Given the description of an element on the screen output the (x, y) to click on. 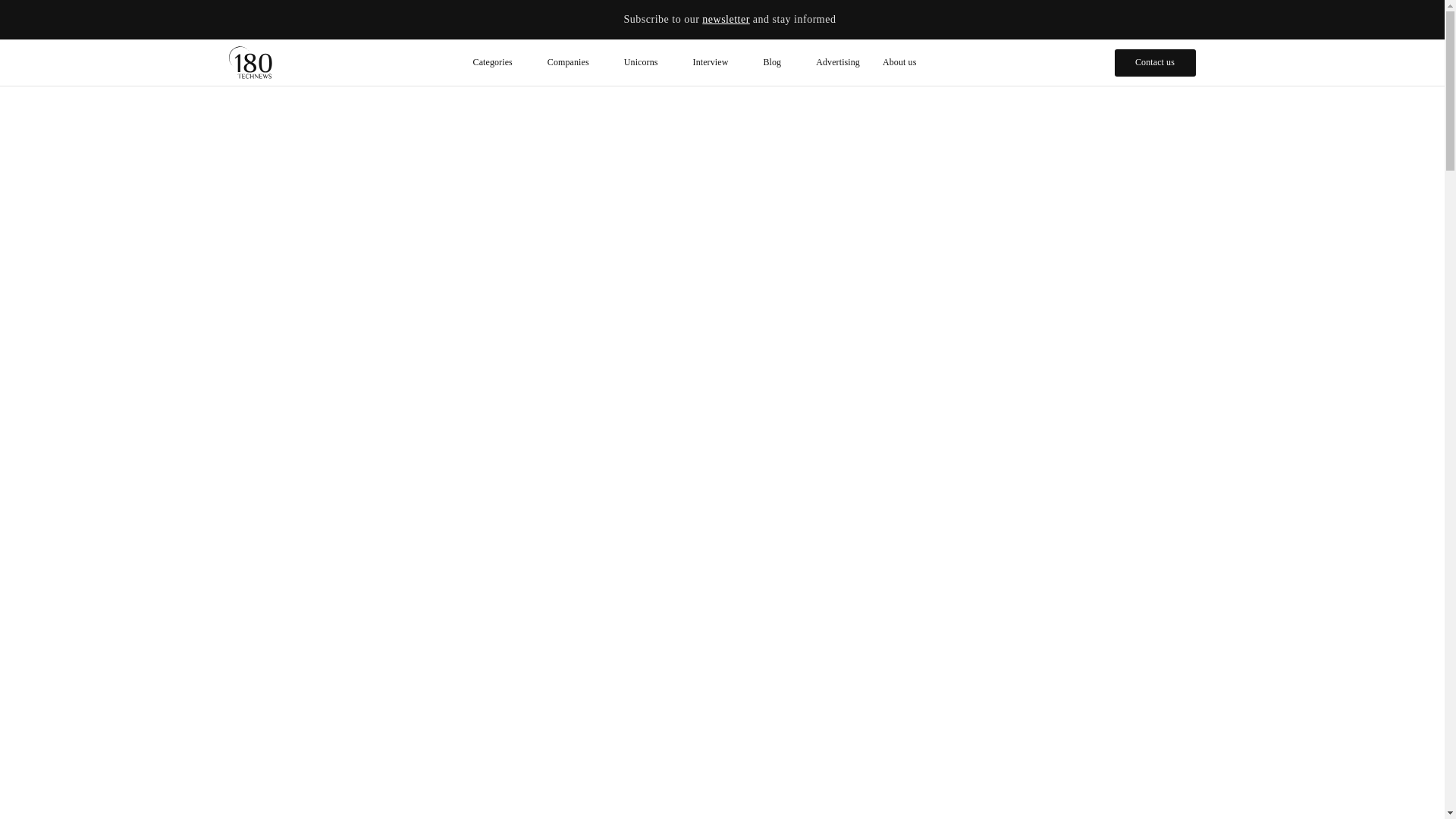
About us (898, 62)
Categories (498, 62)
Contact us (1155, 62)
Advertising (837, 62)
Unicorns (646, 62)
Companies (573, 62)
Interview (716, 62)
Blog (778, 62)
newsletter (725, 19)
